Given the description of an element on the screen output the (x, y) to click on. 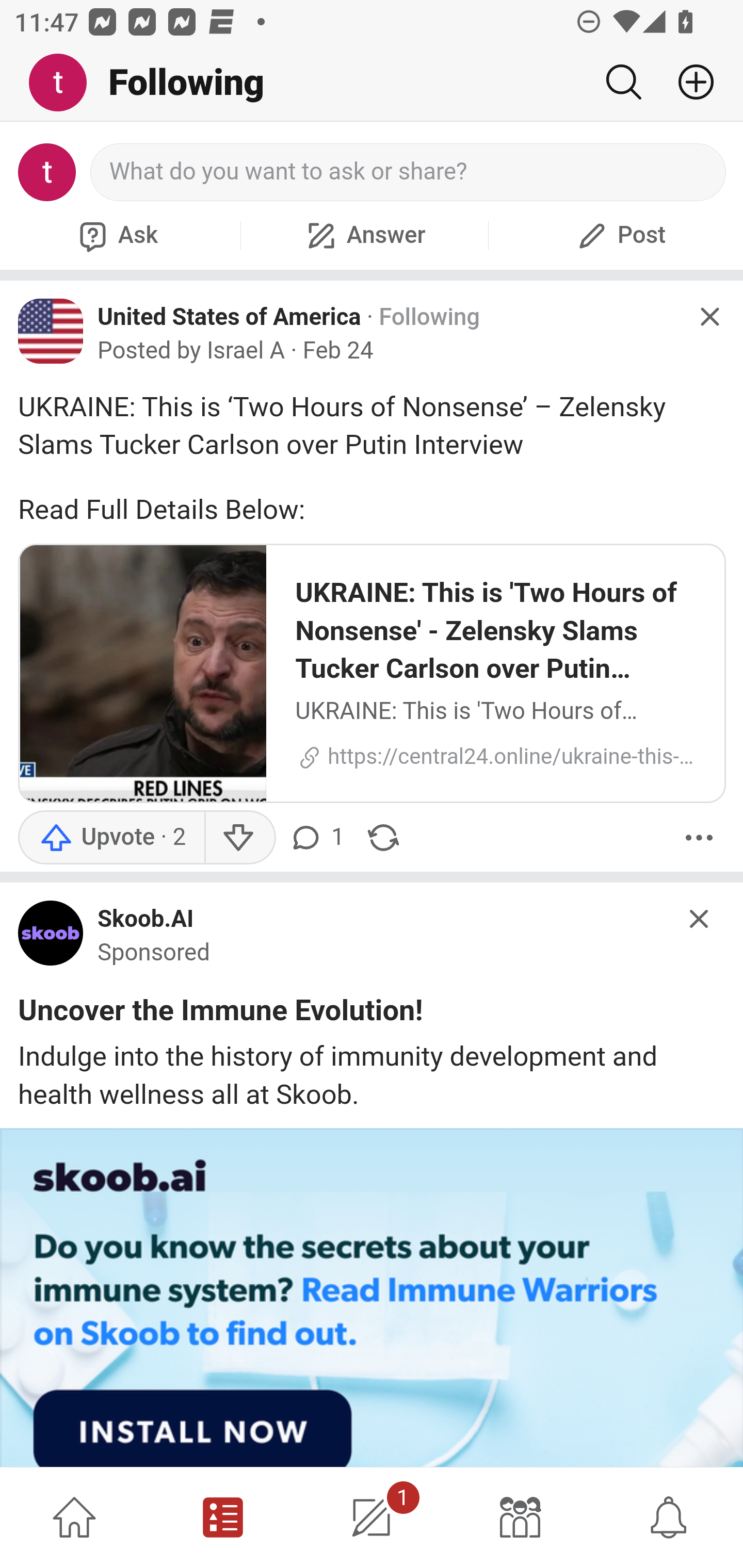
Me (64, 83)
Search (623, 82)
Add (688, 82)
What do you want to ask or share? (408, 172)
Ask (116, 234)
Answer (364, 234)
Post (618, 234)
Hide (709, 316)
Icon for United States of America (50, 330)
United States of America (229, 315)
Following (428, 316)
Upvote (111, 837)
Downvote (238, 837)
1 comment (319, 837)
Share (383, 837)
More (699, 837)
Hide (699, 917)
main-qimg-1ebea3e07fd93bdc180c2ff967774d01 (50, 938)
Skoob.AI (145, 919)
Sponsored (154, 954)
Uncover the Immune Evolution! (220, 1012)
1 (371, 1517)
